Given the description of an element on the screen output the (x, y) to click on. 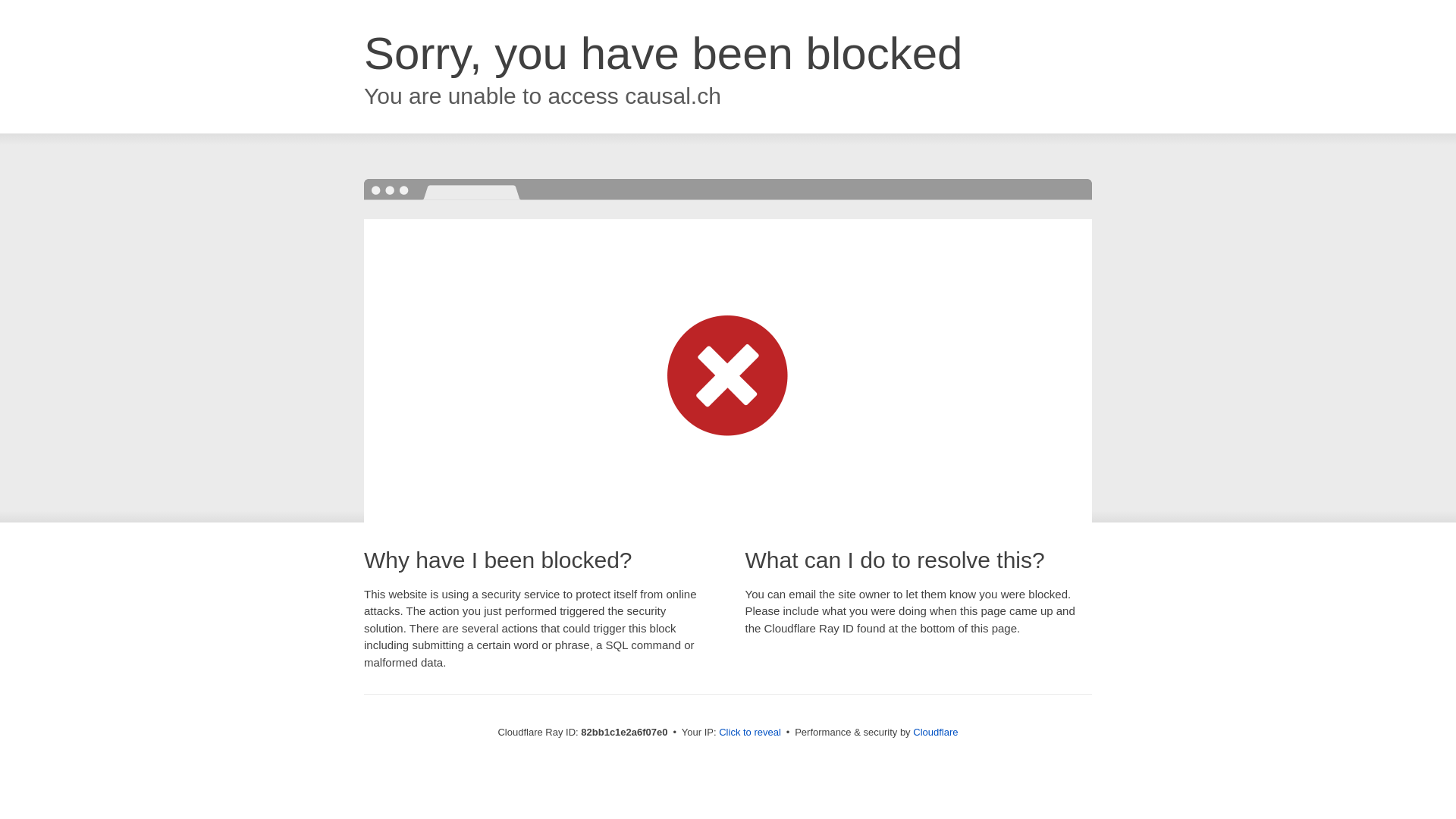
Click to reveal Element type: text (749, 732)
Cloudflare Element type: text (935, 731)
